Given the description of an element on the screen output the (x, y) to click on. 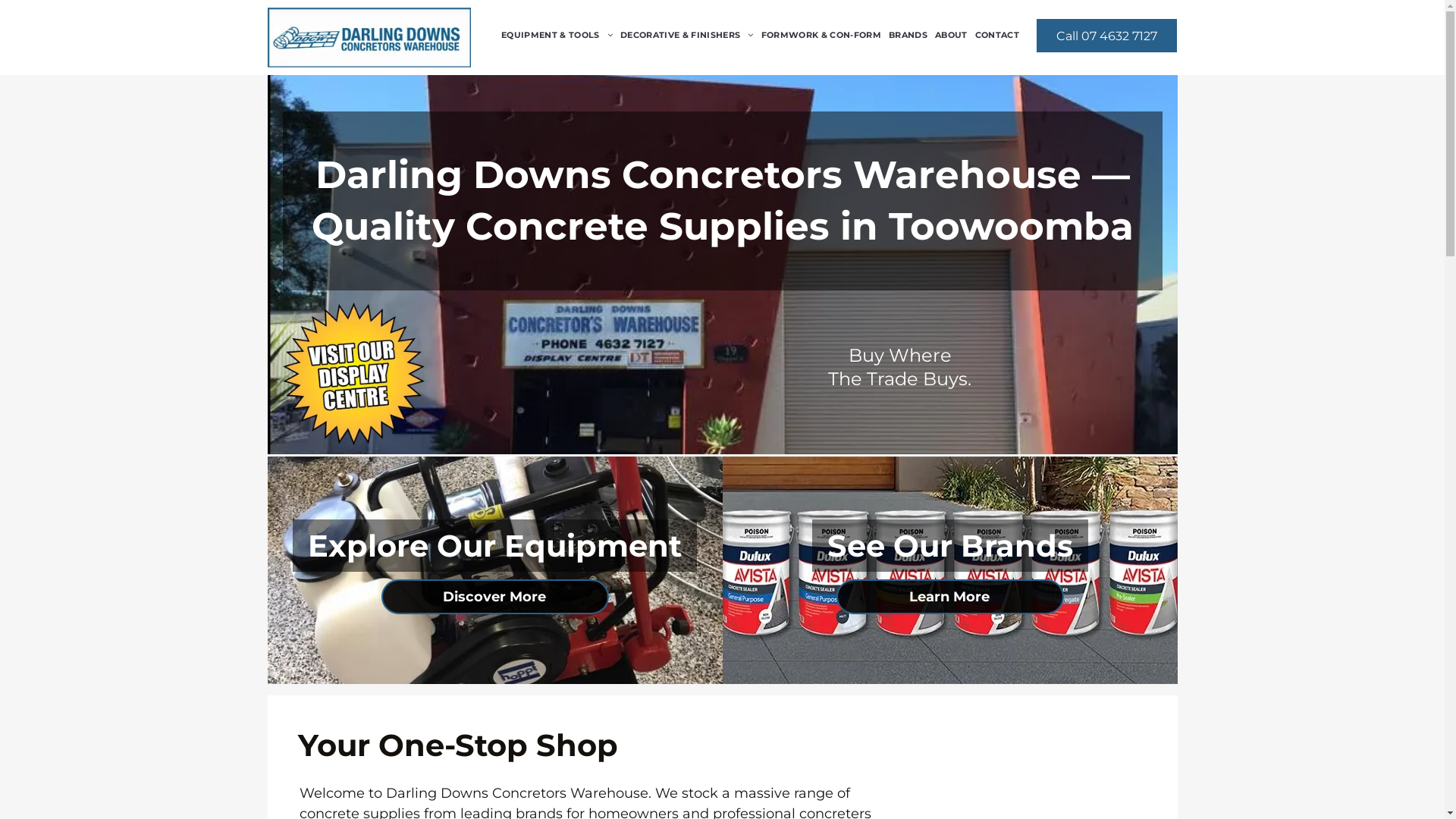
BRANDS Element type: text (907, 34)
Discover More Element type: text (494, 596)
Call 07 4632 7127 Element type: text (1106, 35)
DECORATIVE & FINISHERS Element type: text (686, 34)
FORMWORK & CON-FORM Element type: text (820, 34)
Visit Our Display Store Element type: hover (352, 373)
Learn More Element type: text (949, 596)
EQUIPMENT & TOOLS Element type: text (556, 34)
CONTACT Element type: text (996, 34)
ABOUT Element type: text (951, 34)
